Given the description of an element on the screen output the (x, y) to click on. 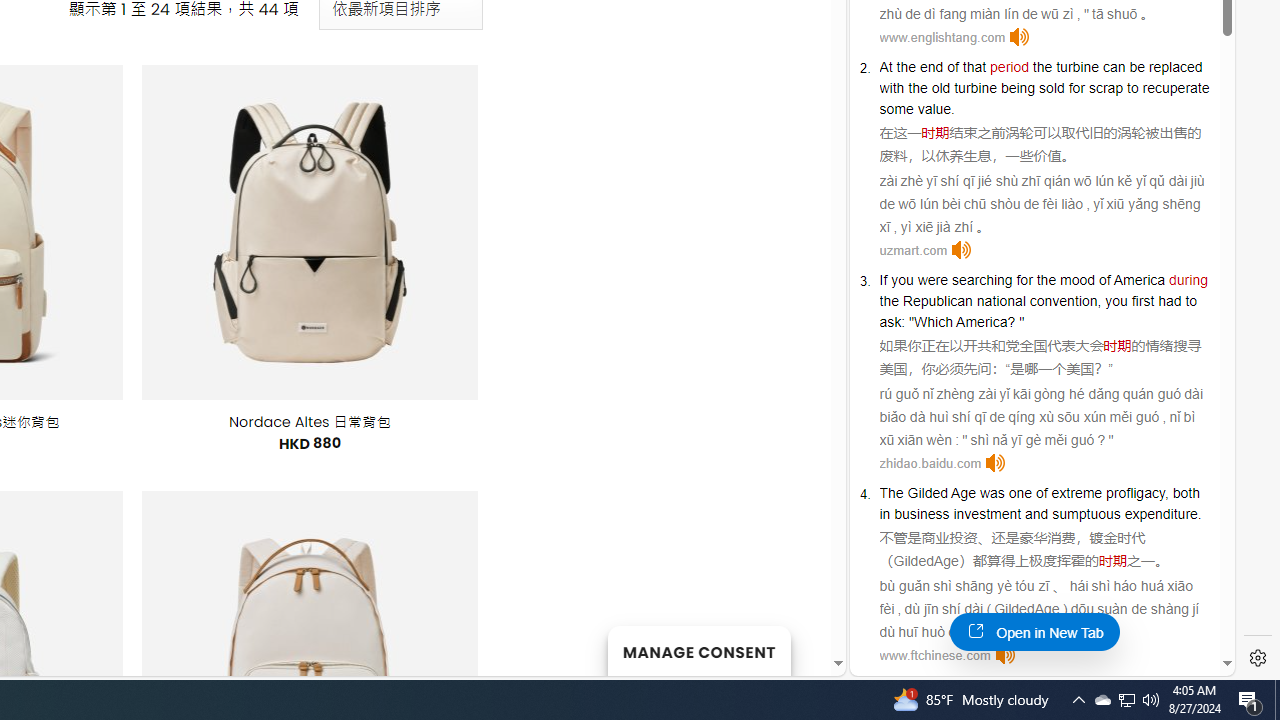
period (1009, 66)
convention (1063, 300)
ask (890, 321)
being (1017, 87)
national (1000, 300)
uzmart.com (913, 250)
some (896, 108)
